Given the description of an element on the screen output the (x, y) to click on. 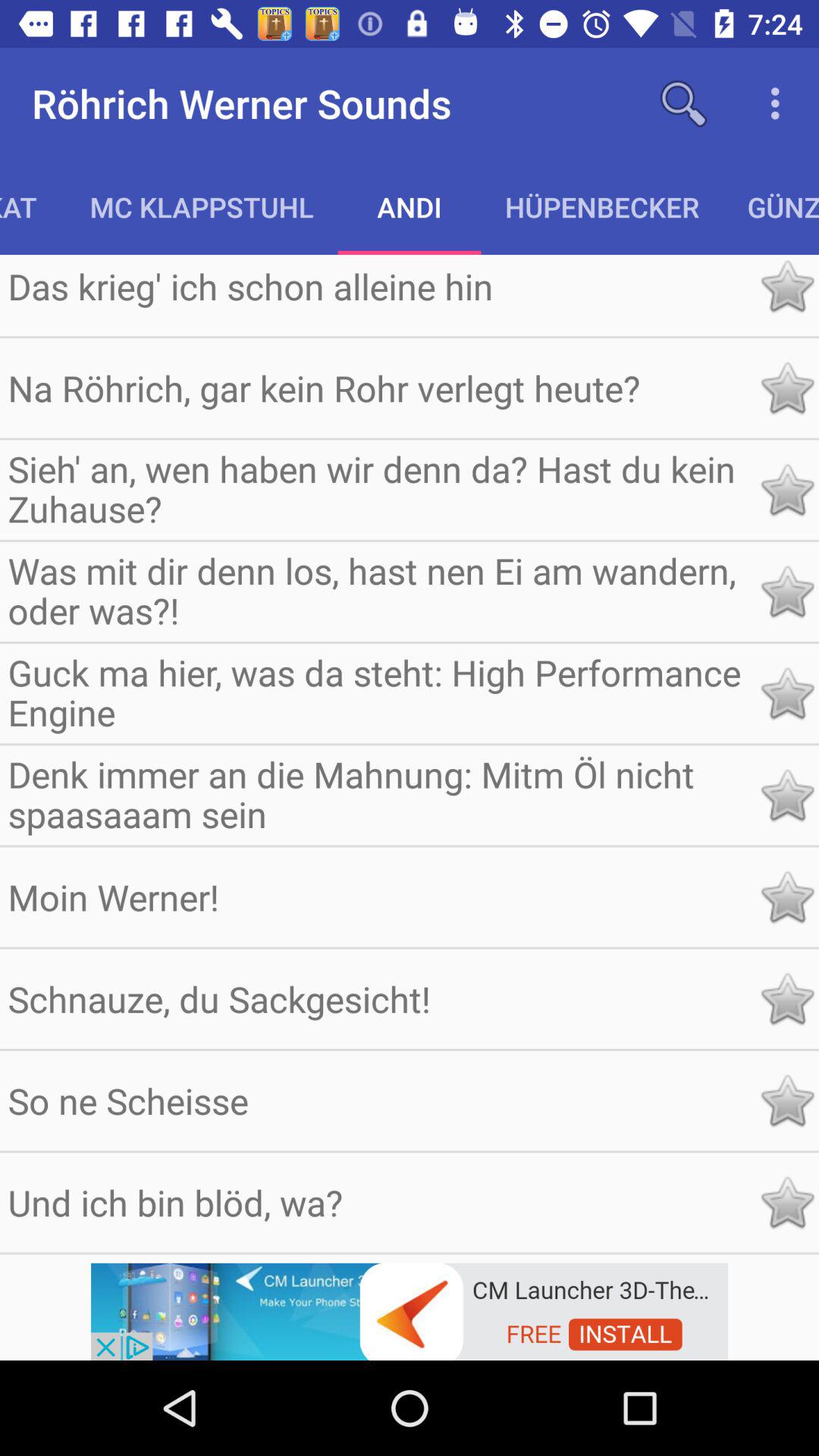
go to favourite (787, 693)
